Given the description of an element on the screen output the (x, y) to click on. 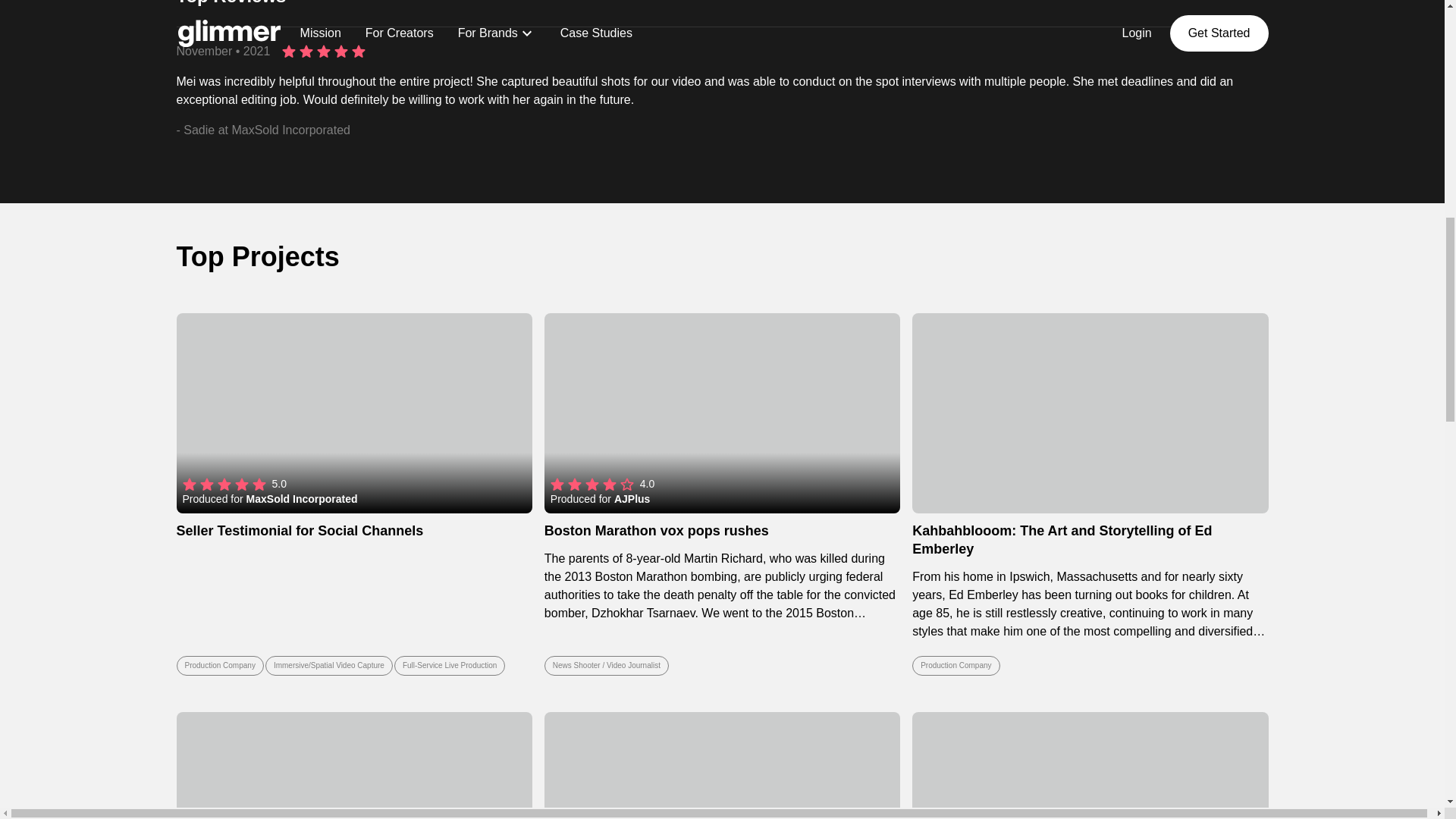
The City Rhythm at Blue Fuji on Vimeo (1090, 765)
